Given the description of an element on the screen output the (x, y) to click on. 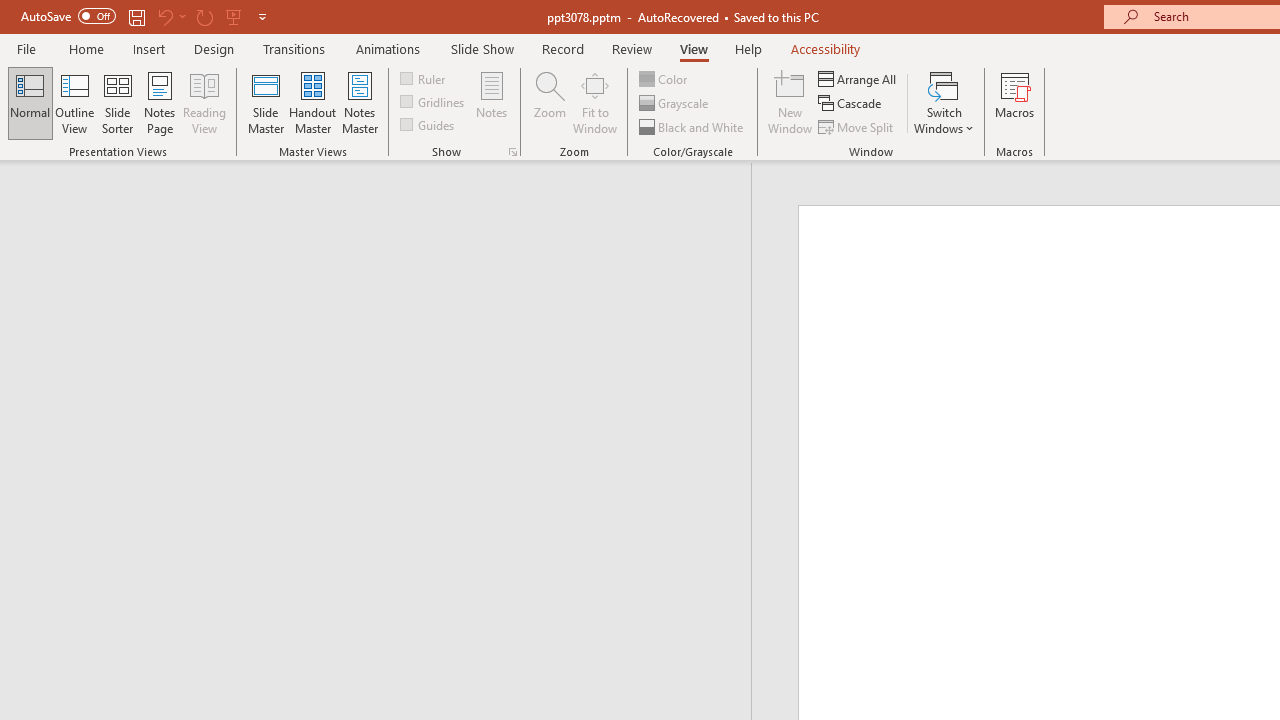
New Window (790, 102)
Arrange All (858, 78)
Handout Master (312, 102)
Notes Page (159, 102)
Color (664, 78)
Gridlines (433, 101)
Zoom... (549, 102)
